Given the description of an element on the screen output the (x, y) to click on. 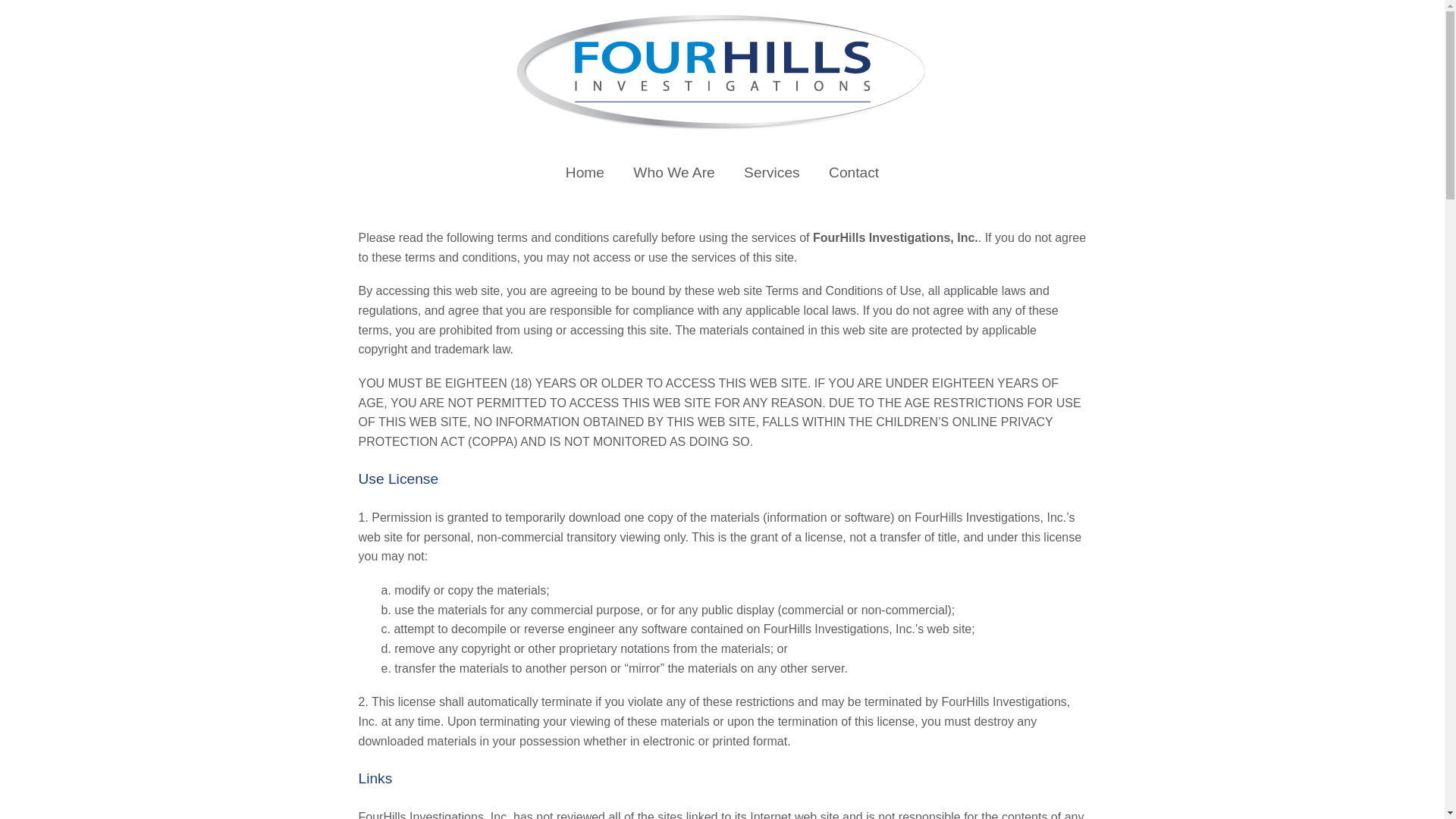
Contact (853, 172)
Home (585, 172)
Services (771, 172)
Who We Are (673, 172)
